Given the description of an element on the screen output the (x, y) to click on. 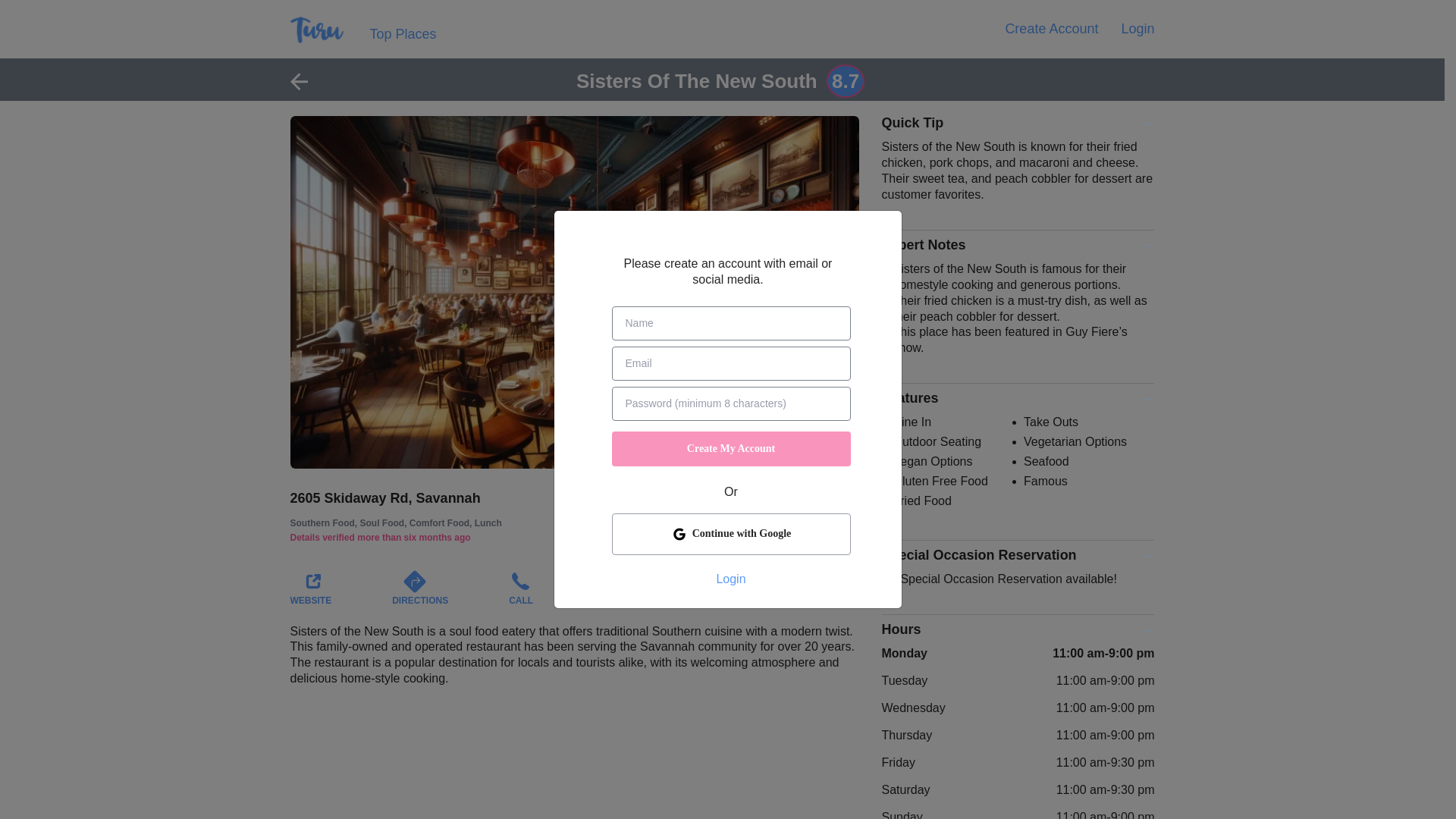
Top Places (402, 34)
Hours (1017, 629)
Special Occasion Reservation (1017, 554)
Quick Tip (1017, 123)
Features (1017, 398)
Create Account (1050, 28)
DIRECTIONS (419, 592)
WEBSITE (310, 592)
Login (1137, 28)
Expert Notes (1017, 245)
